Given the description of an element on the screen output the (x, y) to click on. 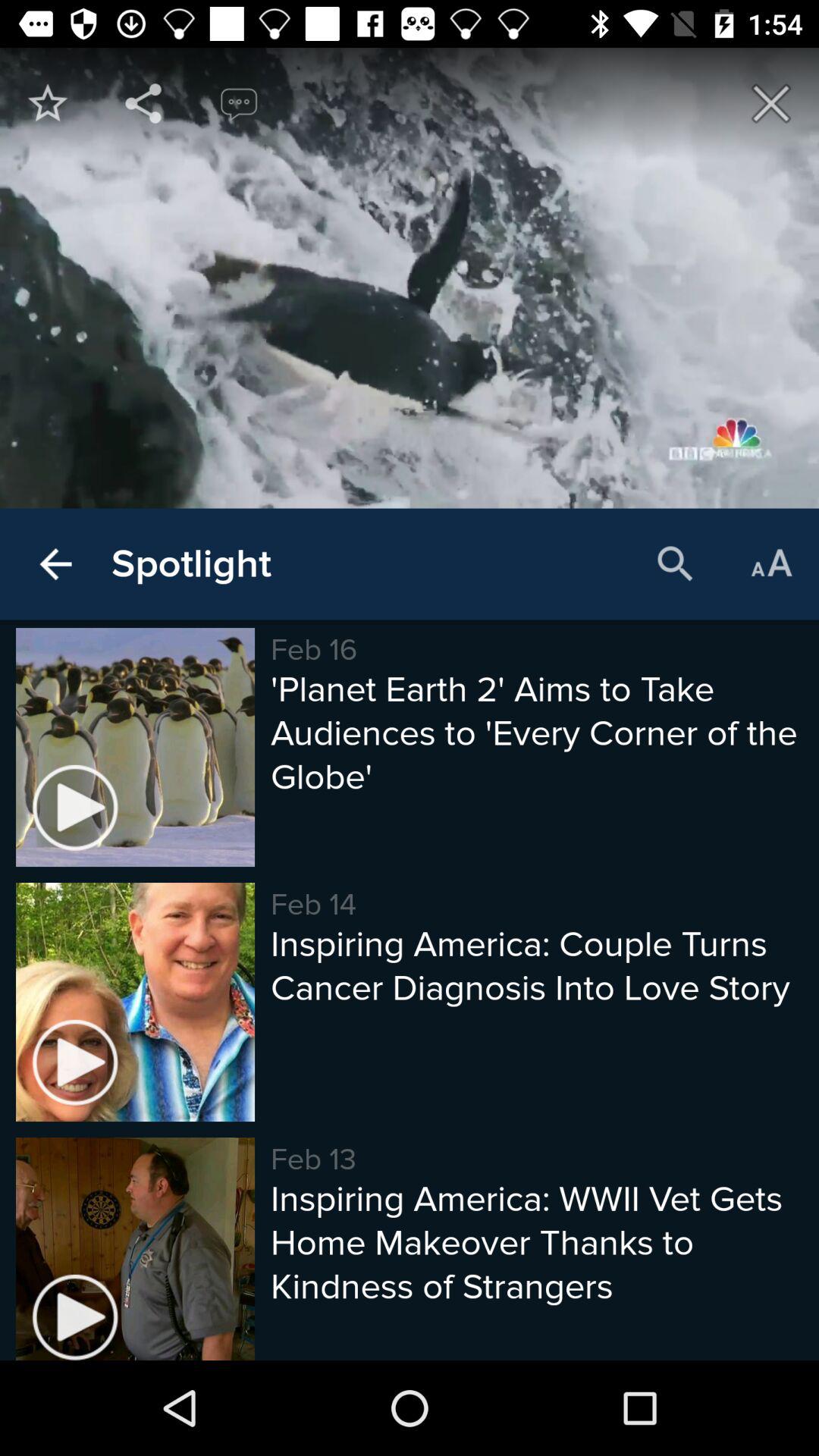
launch item above planet earth 2 item (675, 563)
